Given the description of an element on the screen output the (x, y) to click on. 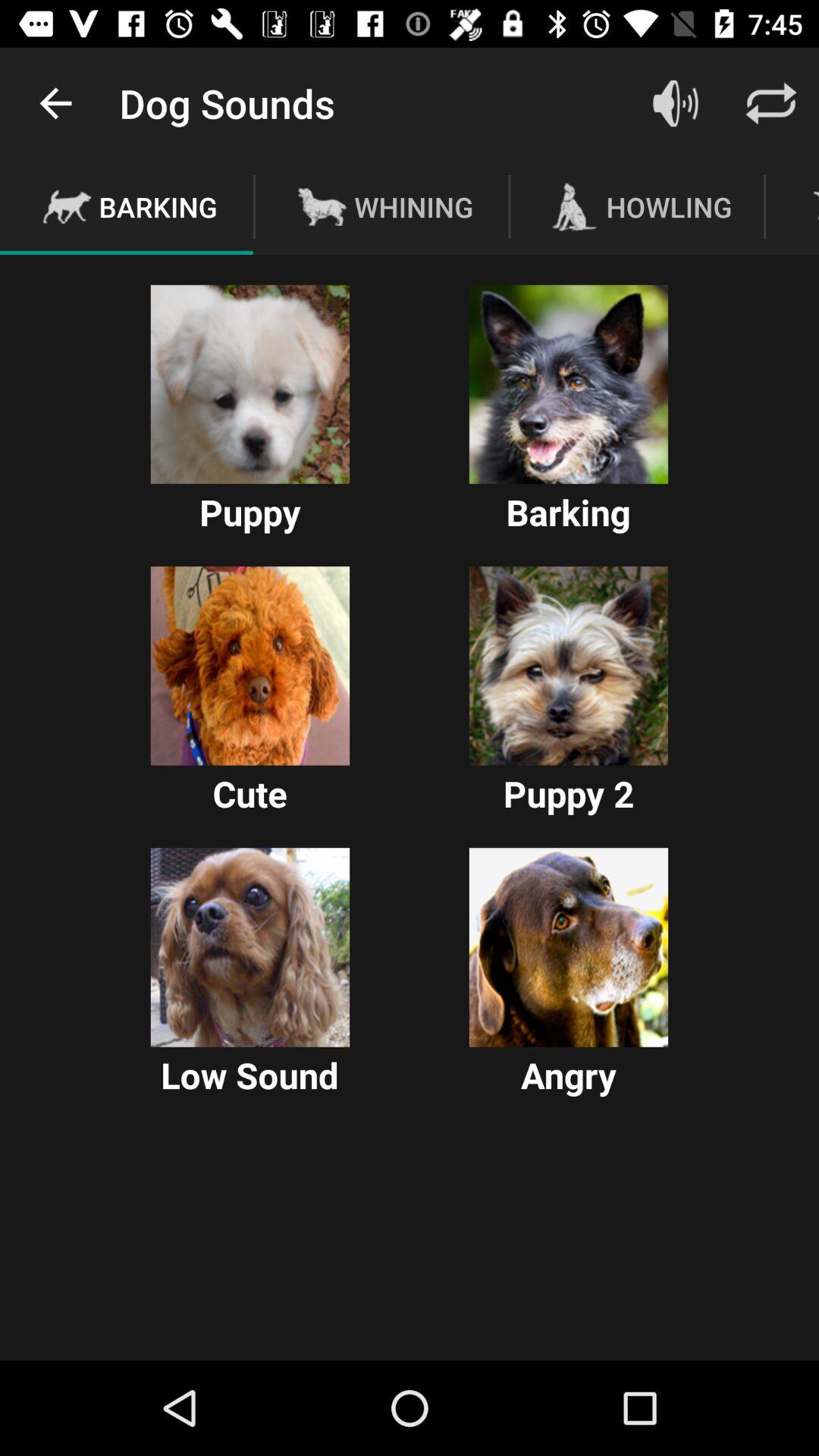
go to puppy (249, 384)
